Given the description of an element on the screen output the (x, y) to click on. 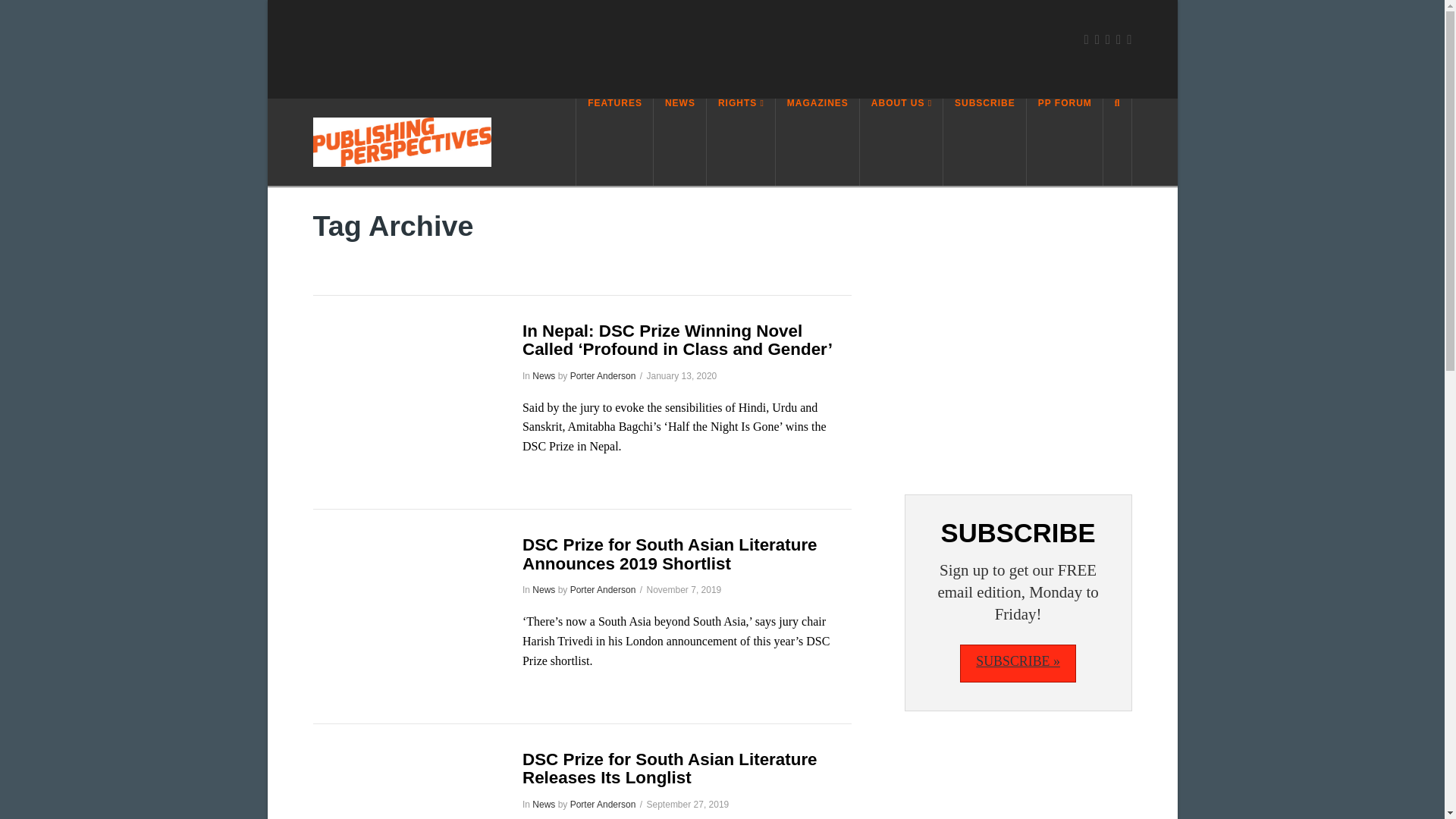
SUBSCRIBE (984, 141)
News (543, 804)
Porter Anderson (603, 589)
Porter Anderson (603, 376)
News (543, 589)
ABOUT US (901, 141)
DSC Prize for South Asian Literature Releases Its Longlist (669, 768)
News (543, 376)
